Given the description of an element on the screen output the (x, y) to click on. 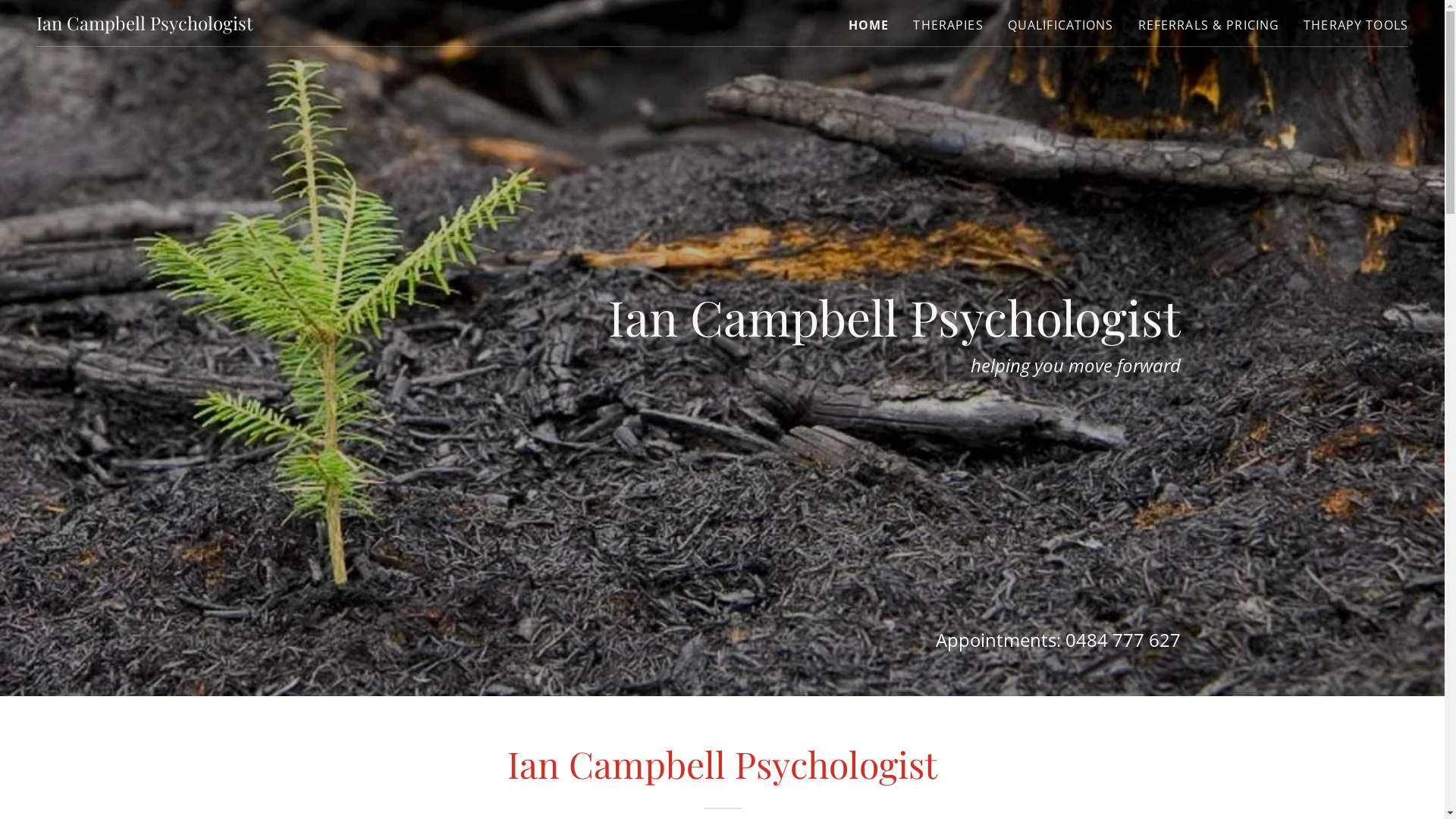
QUALIFICATIONS Element type: text (1060, 24)
0484 777 627 Element type: text (1122, 639)
THERAPY TOOLS Element type: text (1355, 24)
HOME Element type: text (868, 24)
THERAPIES Element type: text (947, 24)
REFERRALS & PRICING Element type: text (1208, 24)
Ian Campbell Psychologist Element type: text (144, 24)
